Given the description of an element on the screen output the (x, y) to click on. 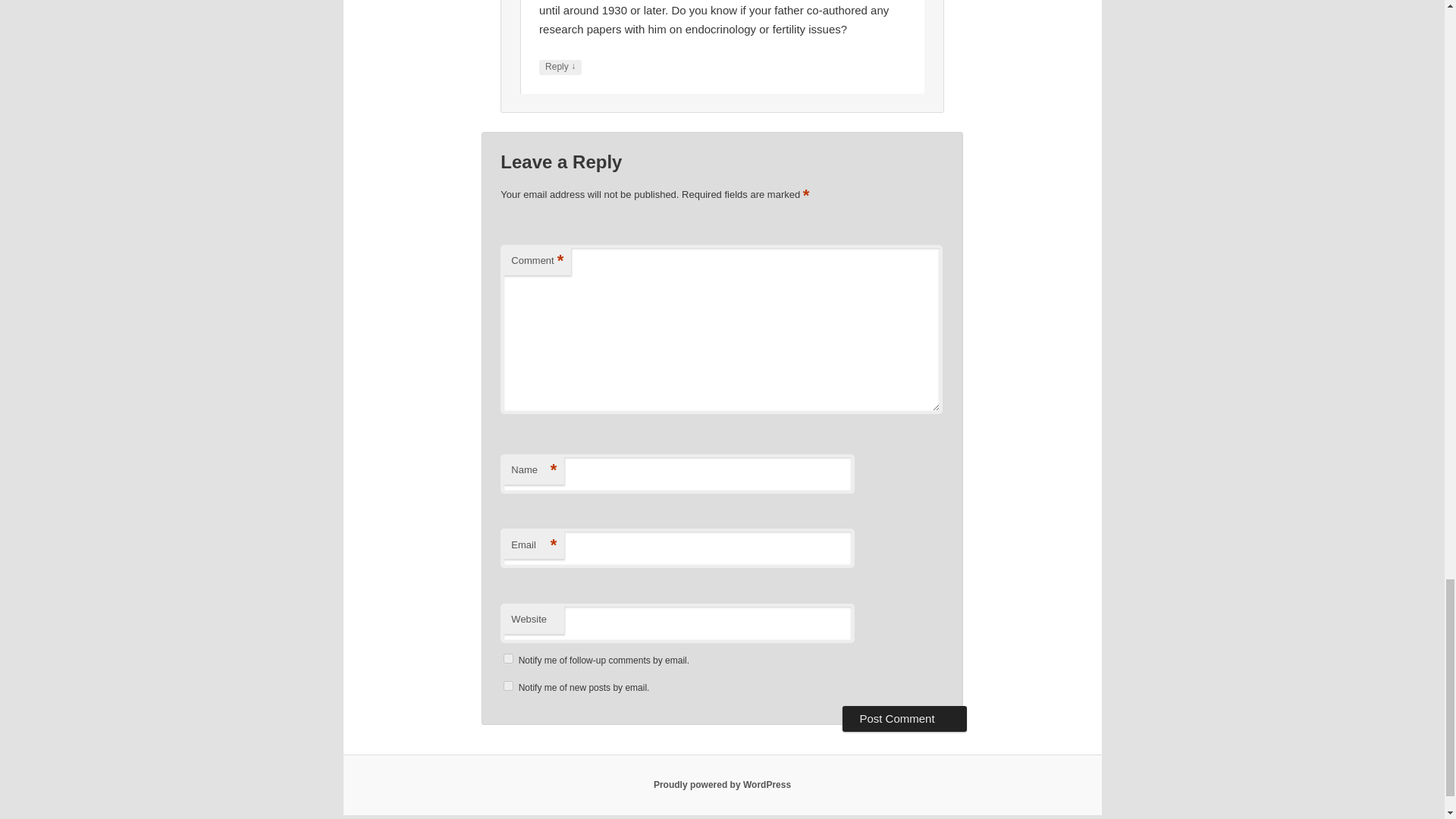
subscribe (508, 685)
Post Comment (904, 718)
subscribe (508, 658)
Semantic Personal Publishing Platform (721, 784)
Proudly powered by WordPress (721, 784)
Post Comment (904, 718)
